Given the description of an element on the screen output the (x, y) to click on. 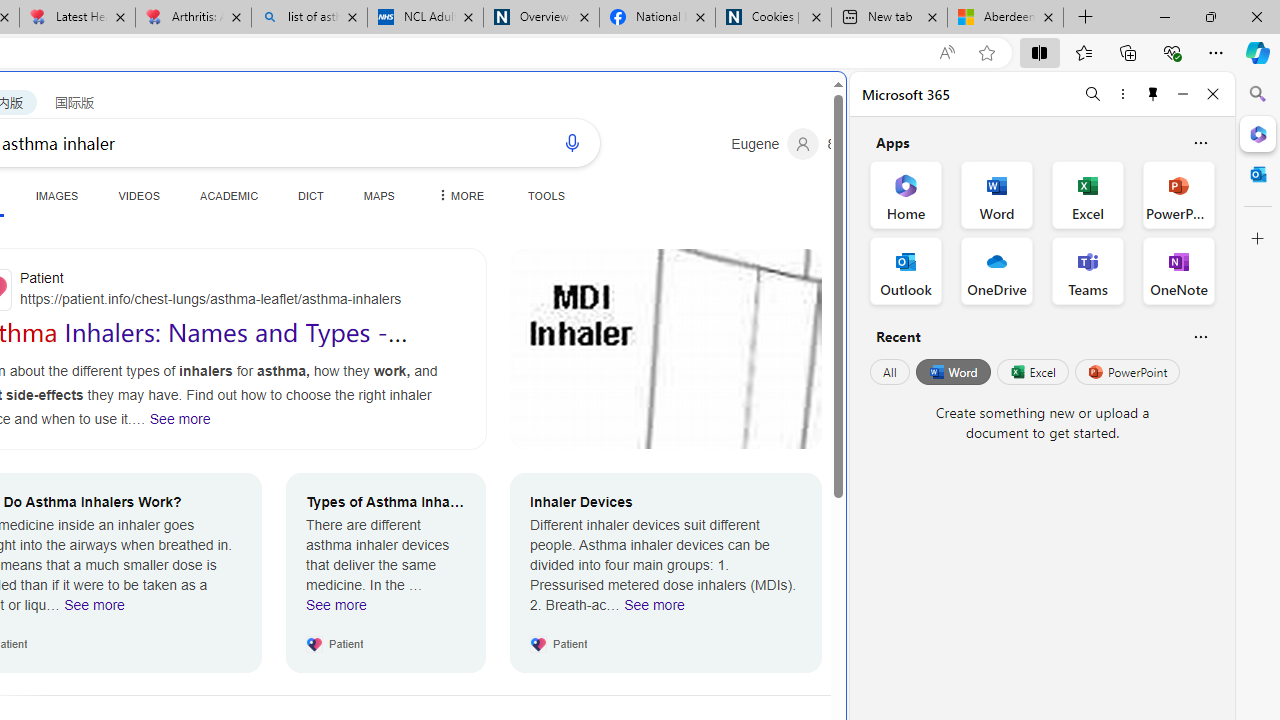
Is this helpful? (1200, 336)
PowerPoint (1127, 372)
Outlook Office App (906, 270)
Home Office App (906, 194)
ACADEMIC (229, 195)
